Given the description of an element on the screen output the (x, y) to click on. 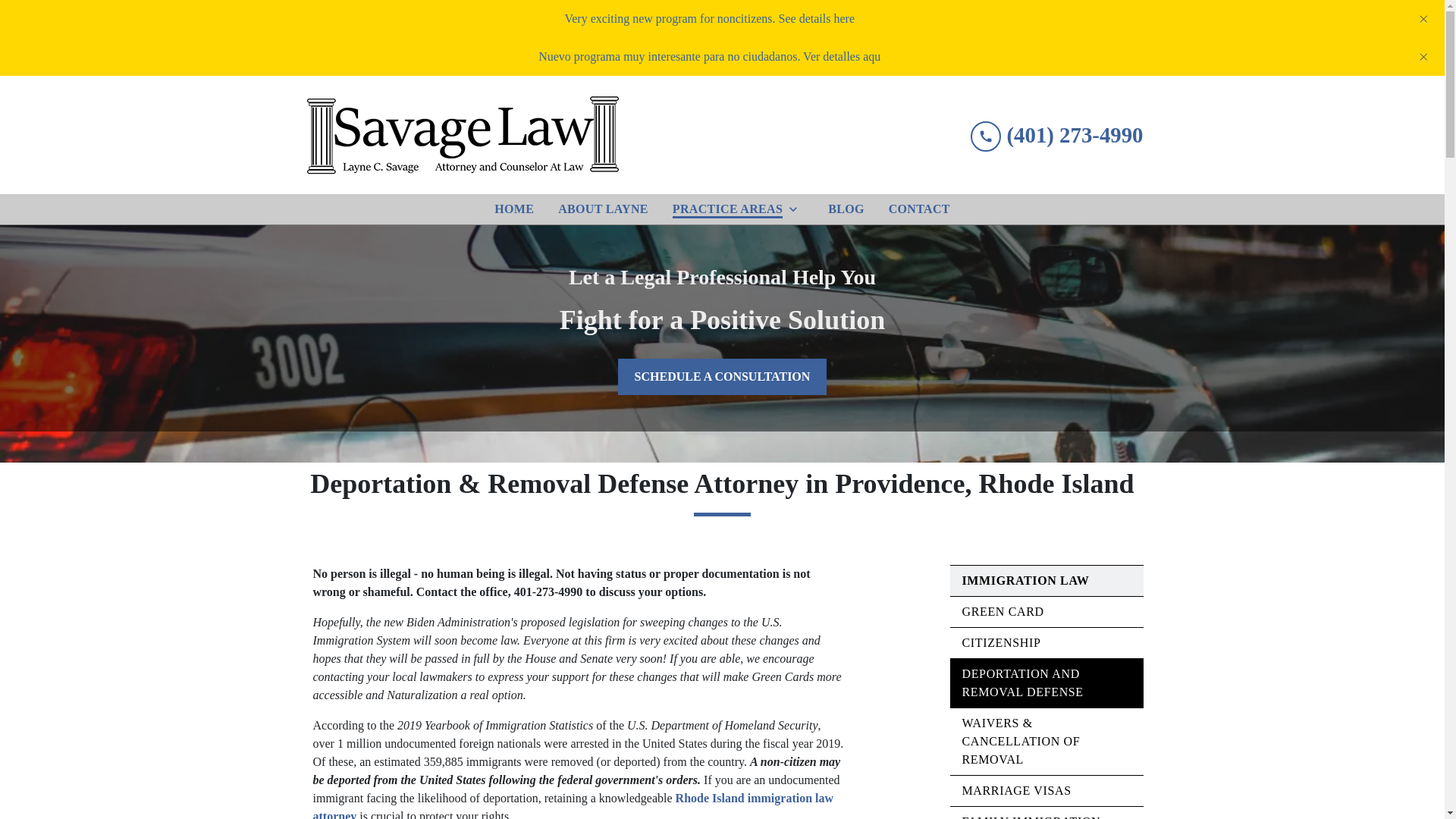
HOME (513, 209)
SCHEDULE A CONSULTATION (722, 376)
ABOUT LAYNE (602, 209)
PRACTICE AREAS (724, 209)
Very exciting new program for noncitizens. See details here (709, 18)
BLOG (846, 209)
 Rhode Island immigration law attorney (574, 805)
IMMIGRATION LAW (1024, 580)
CONTACT (919, 209)
